Given the description of an element on the screen output the (x, y) to click on. 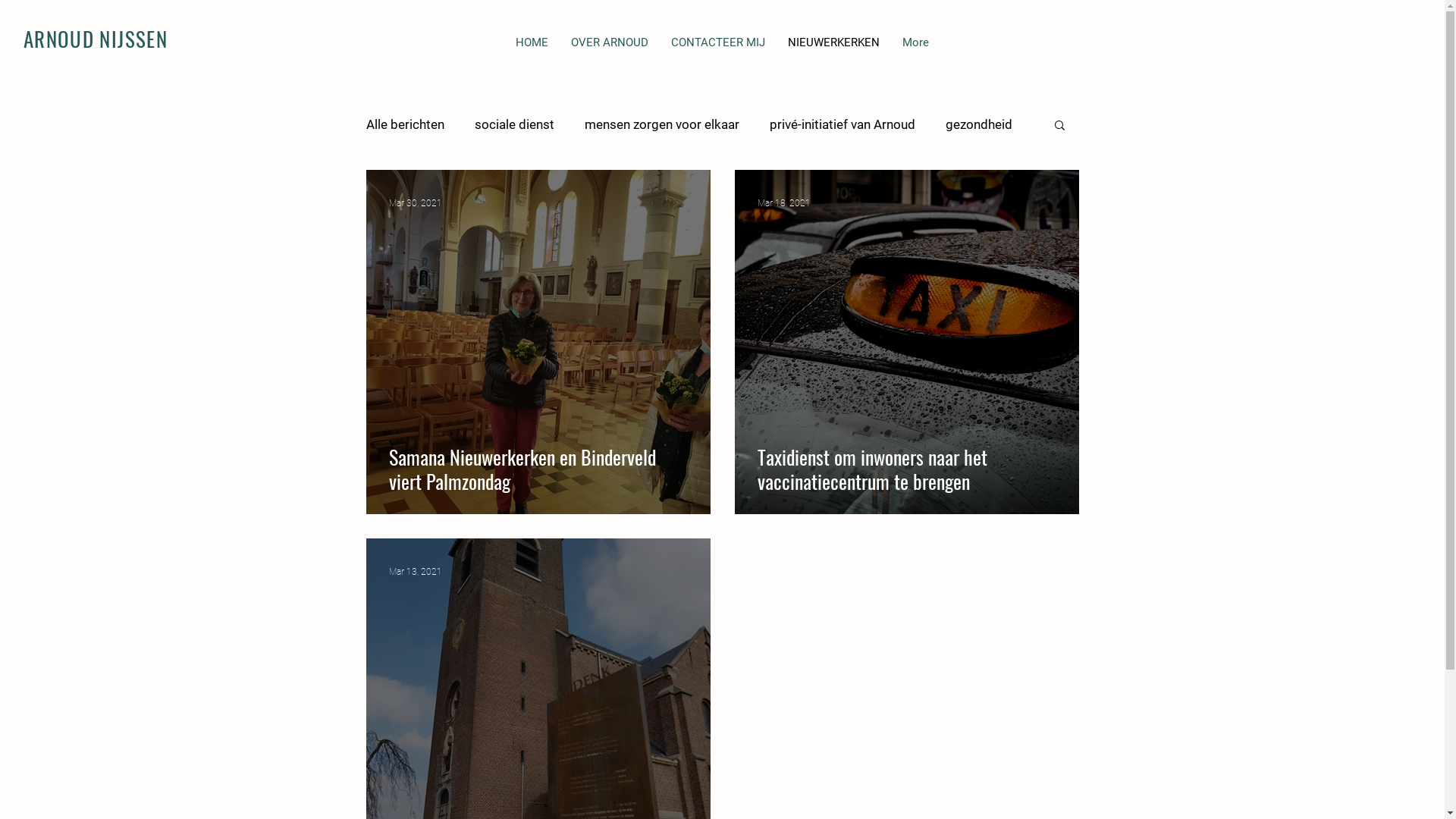
Alle berichten Element type: text (404, 123)
CONTACTEER MIJ Element type: text (717, 50)
Taxidienst om inwoners naar het vaccinatiecentrum te brengen Element type: text (905, 468)
ARNOUD NIJSSEN Element type: text (95, 38)
Samana Nieuwerkerken en Binderveld viert Palmzondag Element type: text (537, 468)
gezondheid Element type: text (977, 123)
NIEUWERKERKEN Element type: text (833, 50)
HOME Element type: text (531, 50)
sociale dienst Element type: text (514, 123)
OVER ARNOUD Element type: text (609, 50)
mensen zorgen voor elkaar Element type: text (660, 123)
